Given the description of an element on the screen output the (x, y) to click on. 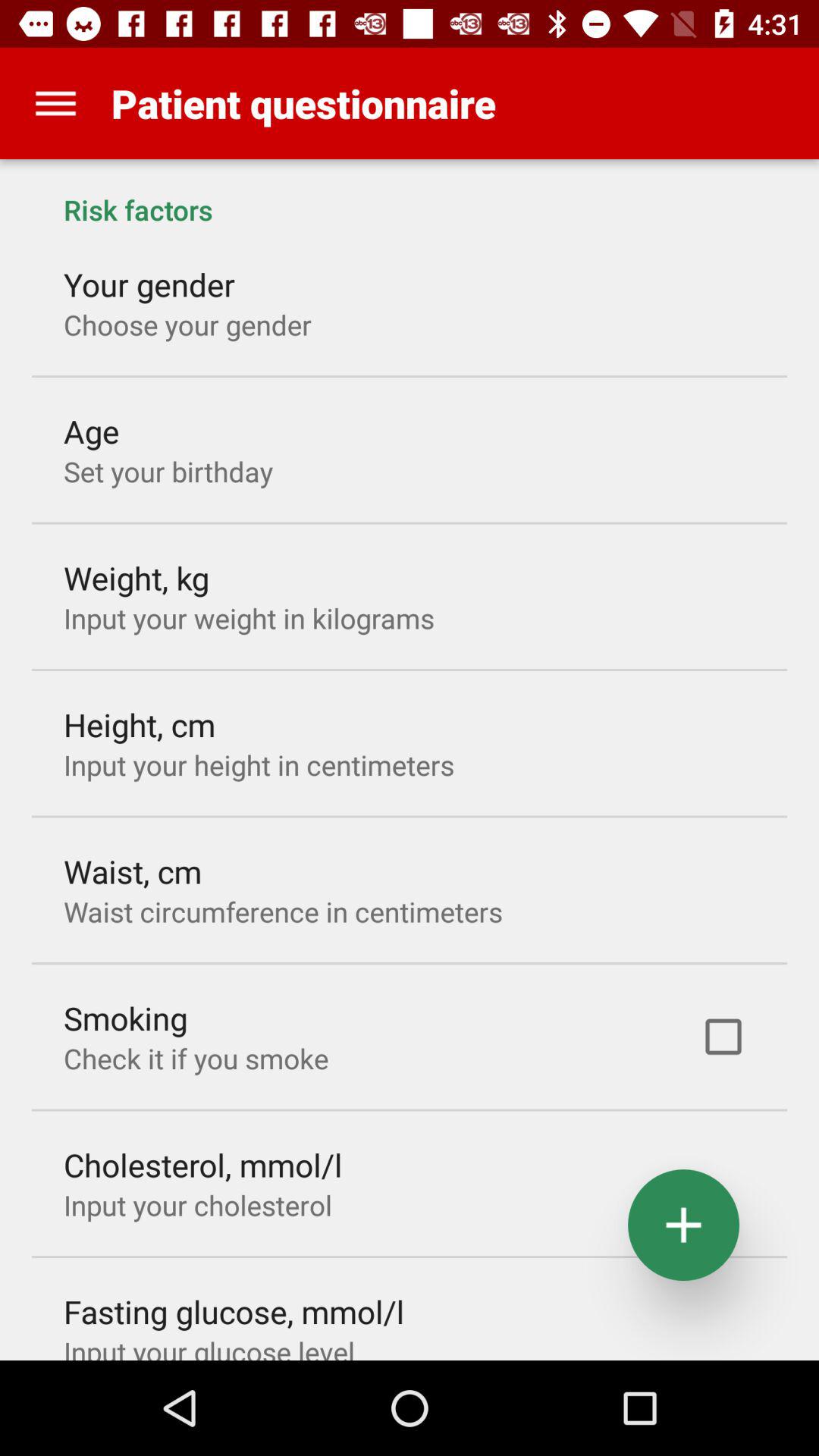
launch item above the smoking (282, 911)
